Given the description of an element on the screen output the (x, y) to click on. 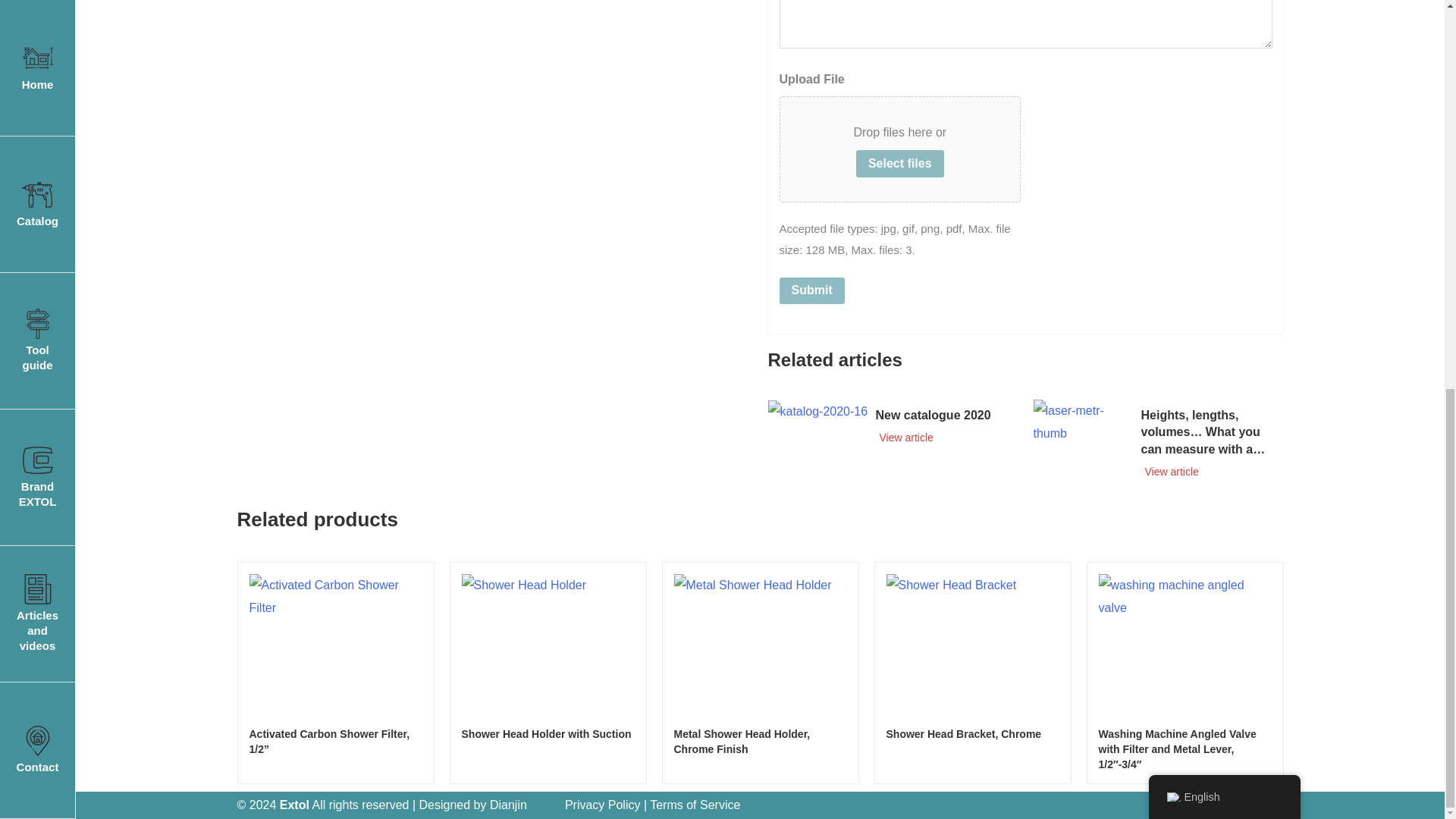
New catalogue 2020 (817, 410)
English (1172, 57)
Submit (811, 290)
Contact (37, 39)
